Given the description of an element on the screen output the (x, y) to click on. 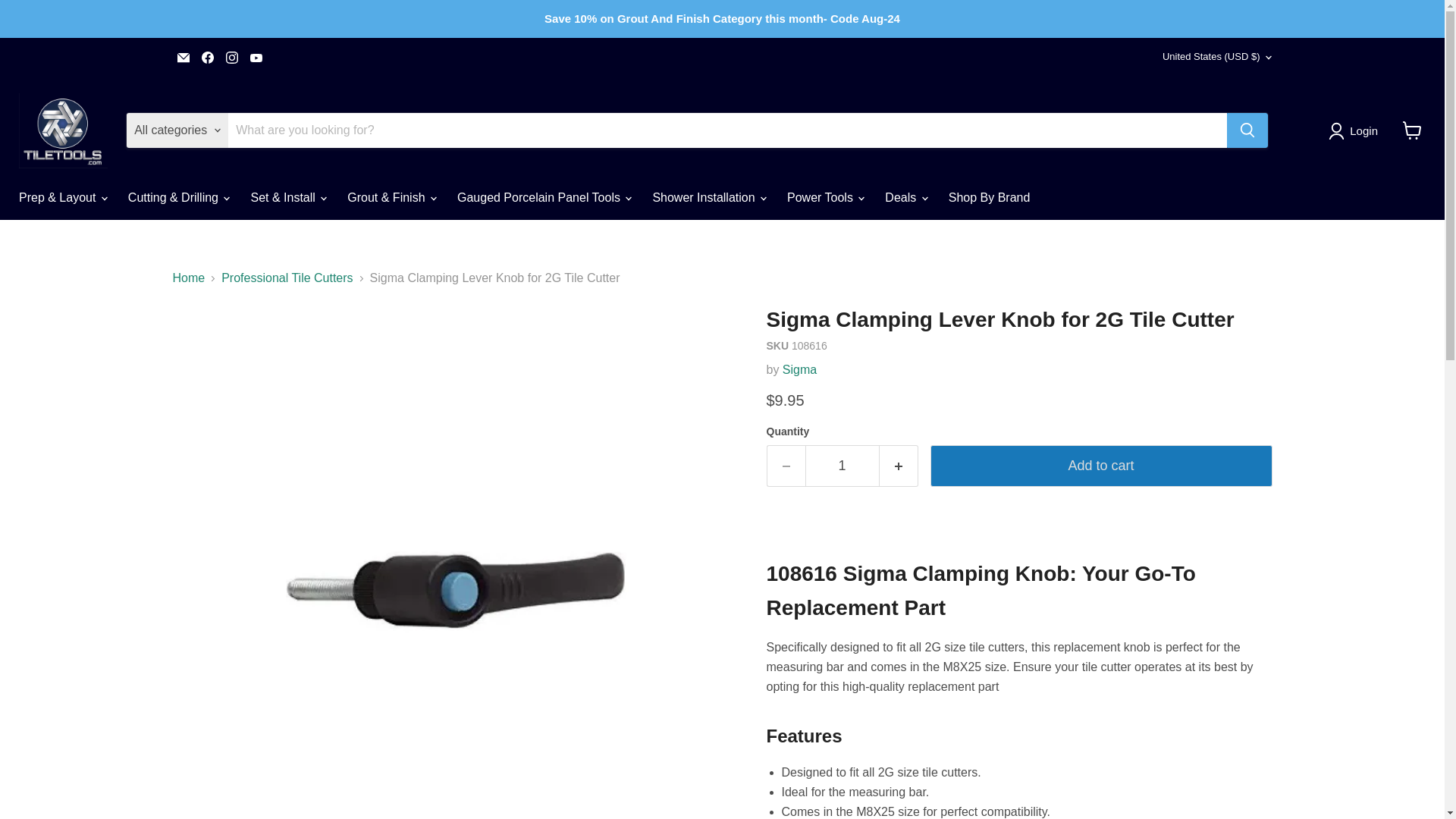
Find us on Instagram (232, 56)
Find us on Facebook (207, 56)
Email (183, 56)
Email TileTools (183, 56)
YouTube (256, 56)
Sigma (799, 369)
Find us on YouTube (256, 56)
Instagram (232, 56)
View cart (1411, 130)
Login (1355, 130)
